Given the description of an element on the screen output the (x, y) to click on. 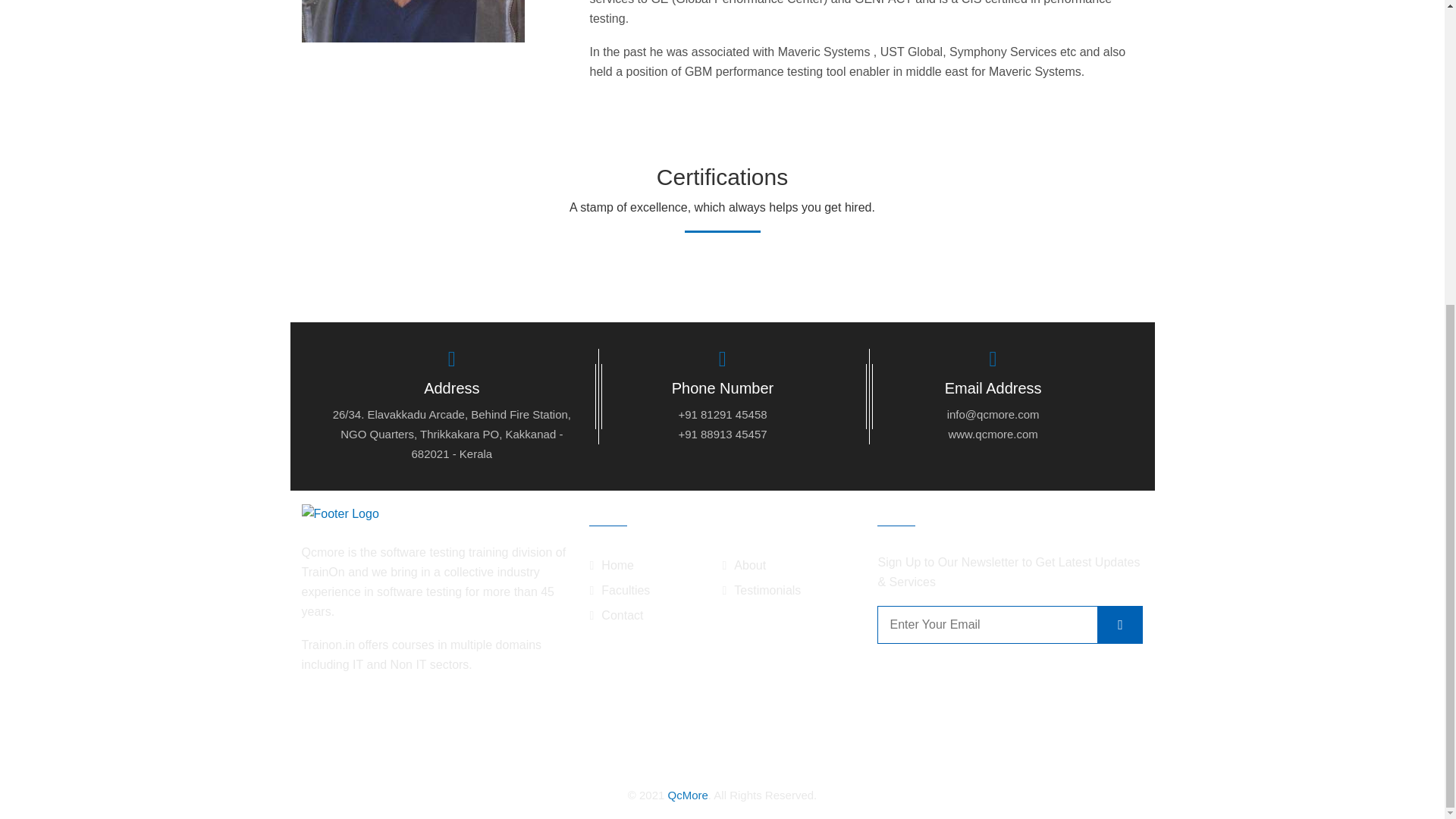
Contact (616, 615)
Faculties (619, 590)
About (743, 565)
Testimonials (761, 590)
QcMore (686, 794)
Home (611, 565)
